Given the description of an element on the screen output the (x, y) to click on. 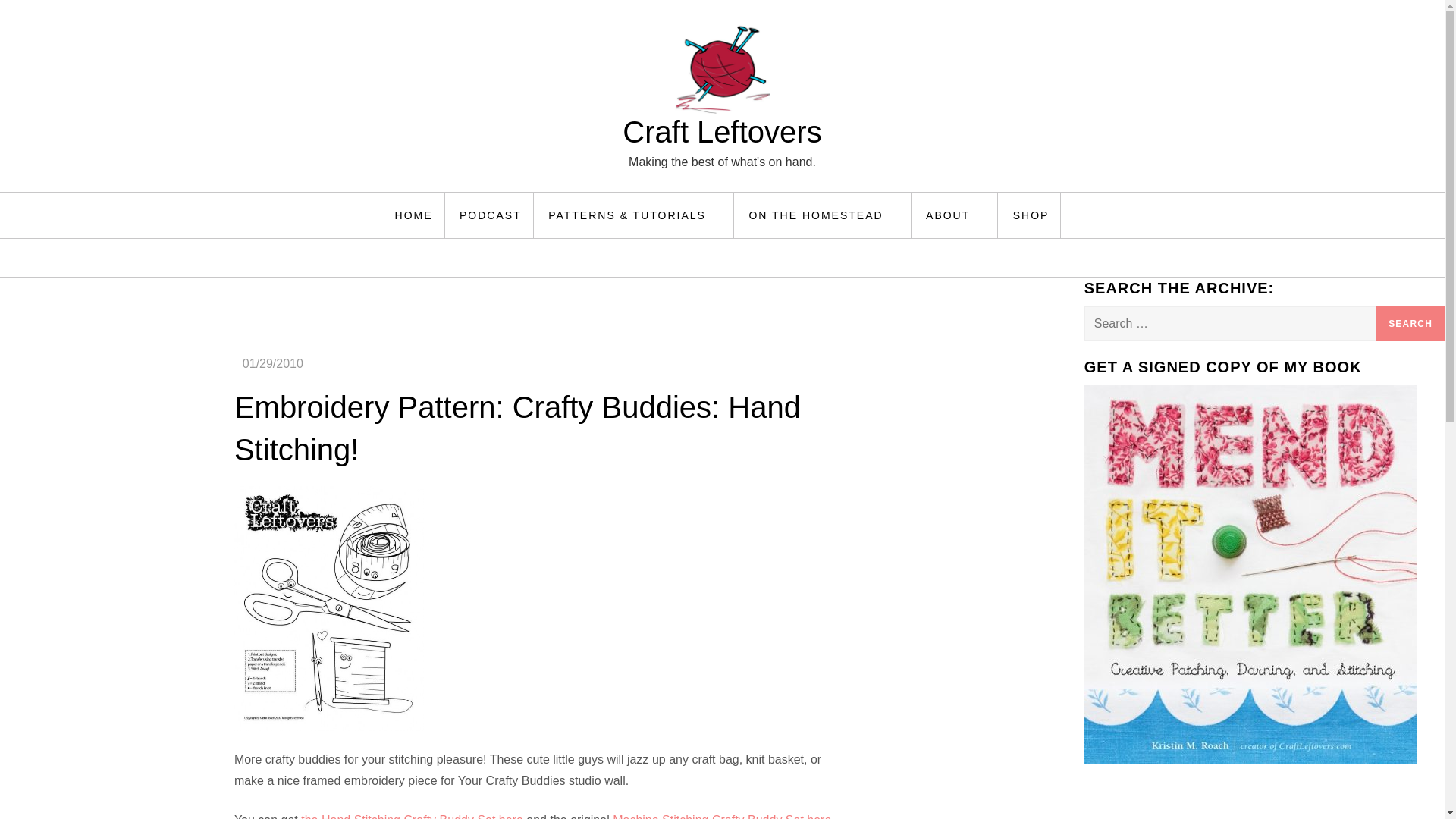
the Hand Stitching Crafty Buddy Set here (411, 816)
ABOUT (955, 215)
HOME (414, 215)
PODCAST (491, 215)
Craft Leftovers (722, 131)
SHOP (1031, 215)
Machine Stitching Crafty Buddy Set here (721, 816)
ON THE HOMESTEAD (823, 215)
